Given the description of an element on the screen output the (x, y) to click on. 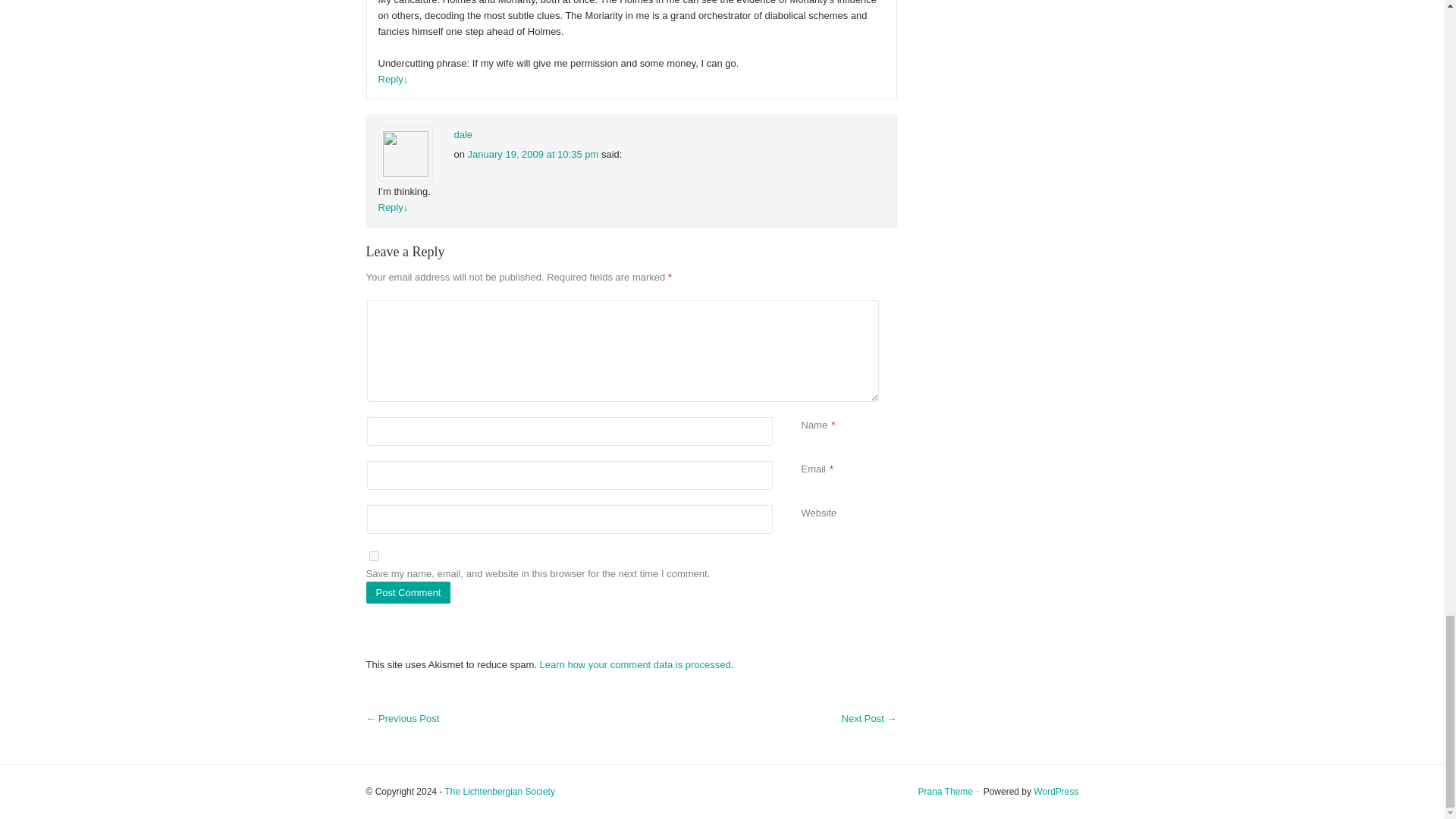
January 19, 2009 at 10:35 pm (532, 153)
Post Comment (407, 592)
Prana Theme (944, 791)
yes (373, 556)
Learn how your comment data is processed (635, 664)
WordPress (1055, 791)
Post Comment (407, 592)
dale (461, 134)
